Given the description of an element on the screen output the (x, y) to click on. 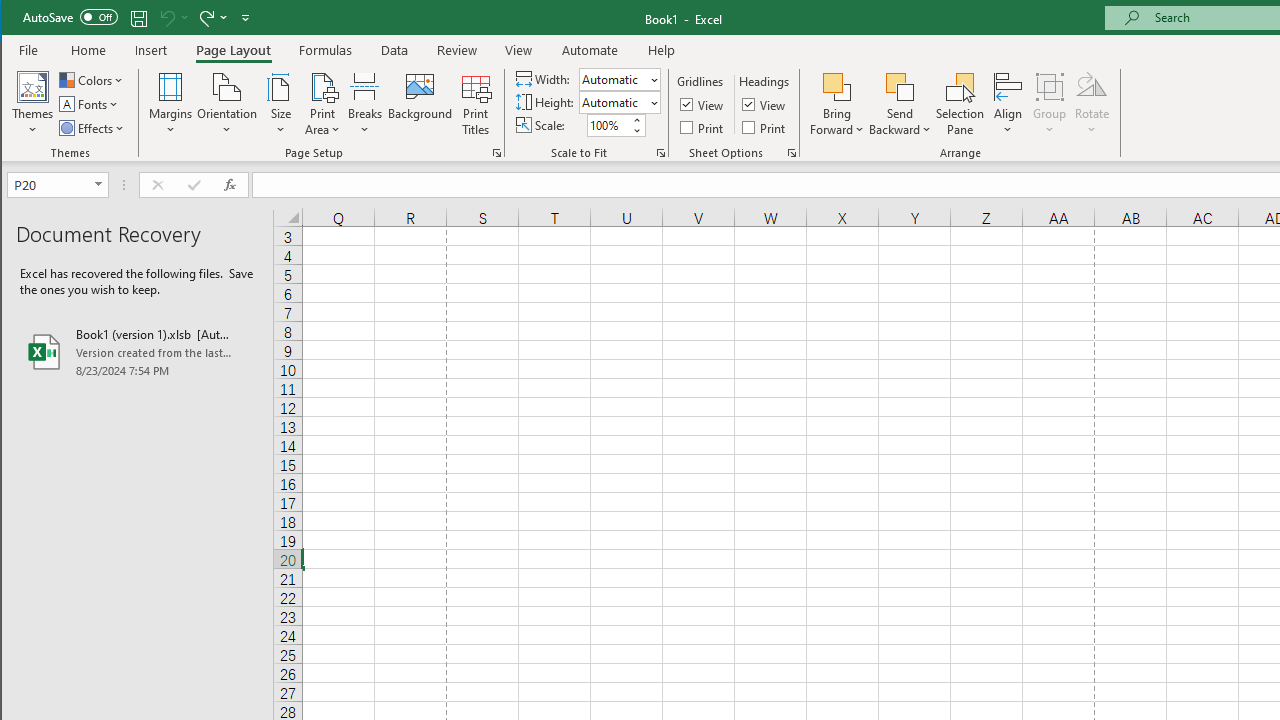
Sheet Options (791, 152)
Orientation (226, 104)
Colors (93, 80)
Bring Forward (836, 86)
Book1 (version 1).xlsb  [AutoRecovered] (137, 352)
Height (612, 102)
Width (612, 79)
Print (765, 126)
Less (636, 130)
Send Backward (900, 104)
Bring Forward (836, 104)
Height (619, 101)
